Given the description of an element on the screen output the (x, y) to click on. 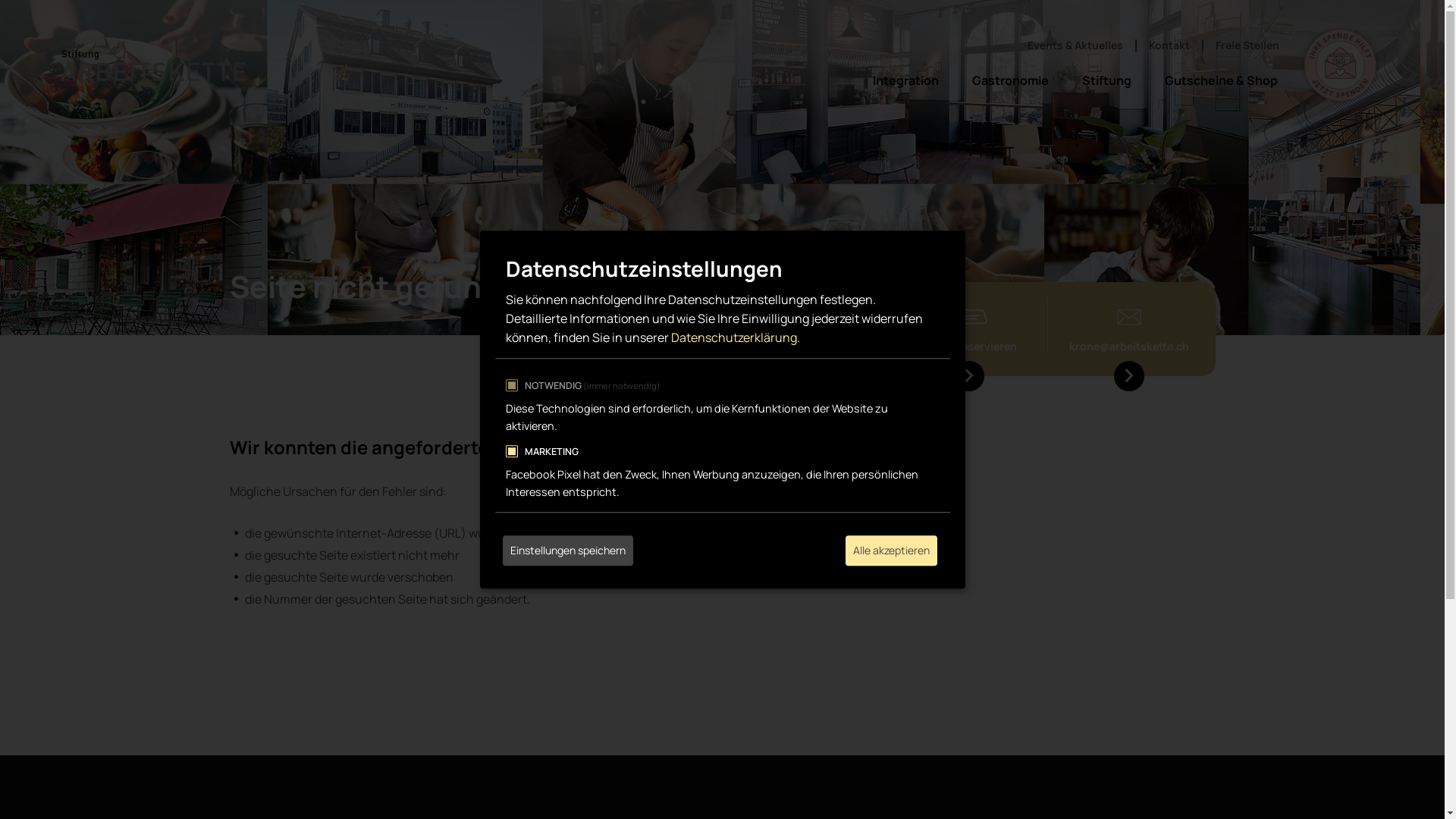
Gutscheine & Shop Element type: text (1221, 80)
Events & Aktuelles Element type: text (1075, 45)
Integration Element type: text (905, 80)
Gastronomie Element type: text (1010, 80)
Freie Stellen Element type: text (1247, 45)
Einstellungen speichern Element type: text (567, 550)
Alle akzeptieren Element type: text (890, 550)
Kontakt Element type: text (1168, 45)
Stiftung Element type: text (1106, 80)
